Given the description of an element on the screen output the (x, y) to click on. 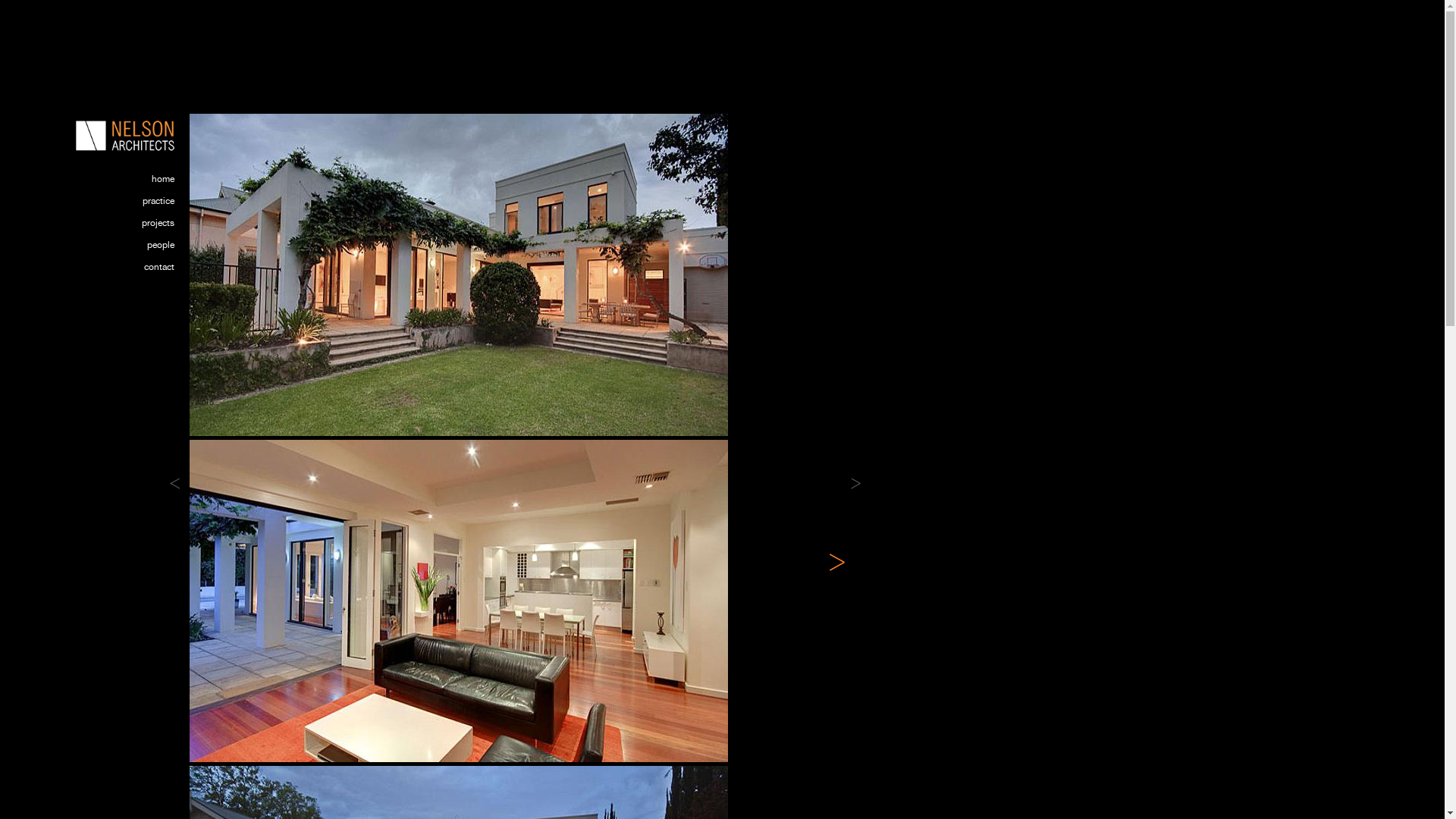
projects Element type: text (132, 227)
people Element type: text (132, 249)
practice Element type: text (132, 205)
Nelson Architects Element type: hover (124, 134)
Next Element type: text (836, 561)
contact Element type: text (132, 271)
Next Element type: text (855, 483)
Previous Element type: text (174, 483)
Previous Element type: text (198, 561)
home Element type: text (132, 183)
